Given the description of an element on the screen output the (x, y) to click on. 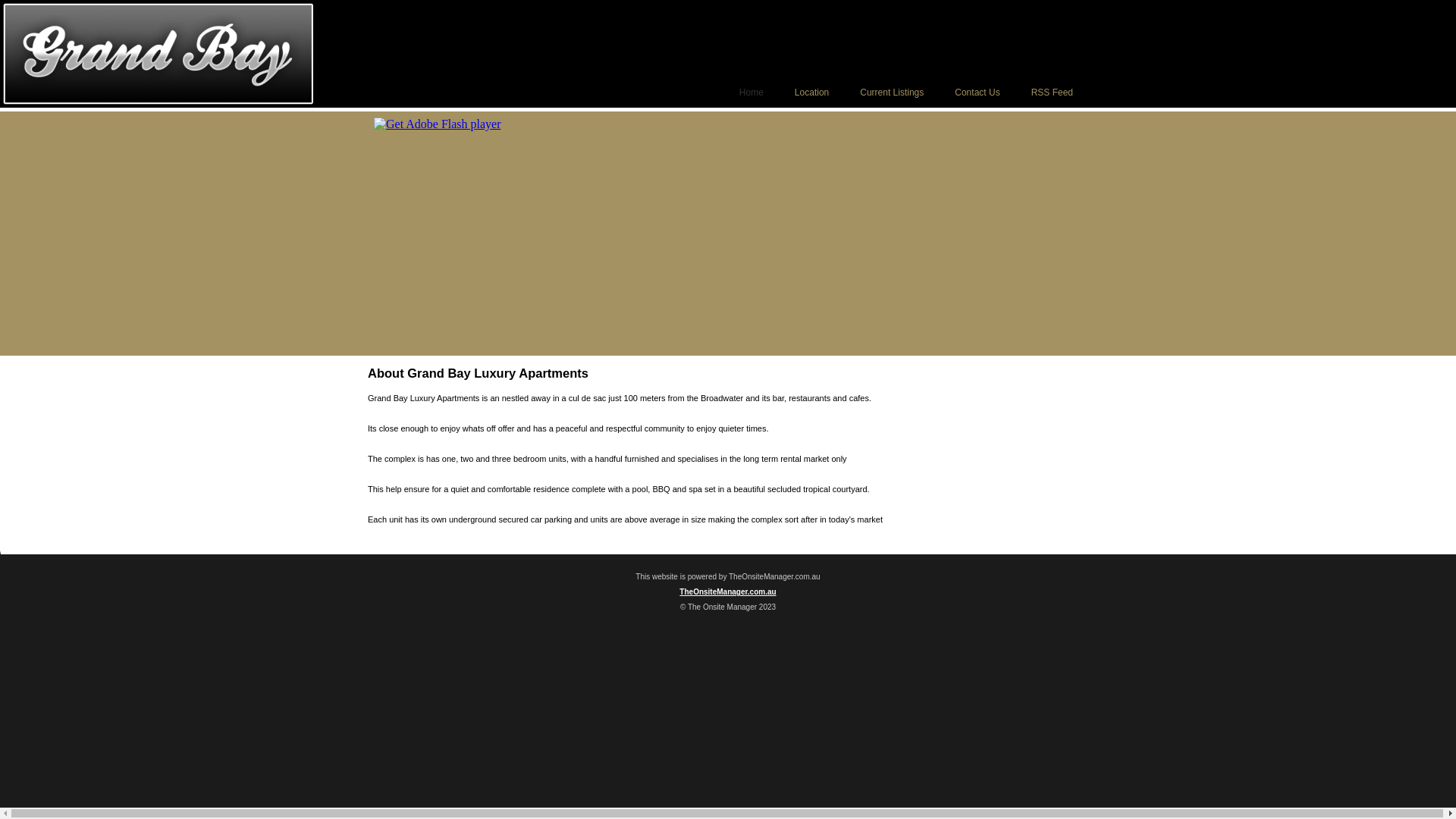
Current Listings Element type: text (883, 92)
TheOnsiteManager.com.au Element type: text (727, 591)
Location Element type: text (803, 92)
Contact Us Element type: text (969, 92)
RSS Feed Element type: text (1044, 92)
Home Element type: text (743, 92)
